Given the description of an element on the screen output the (x, y) to click on. 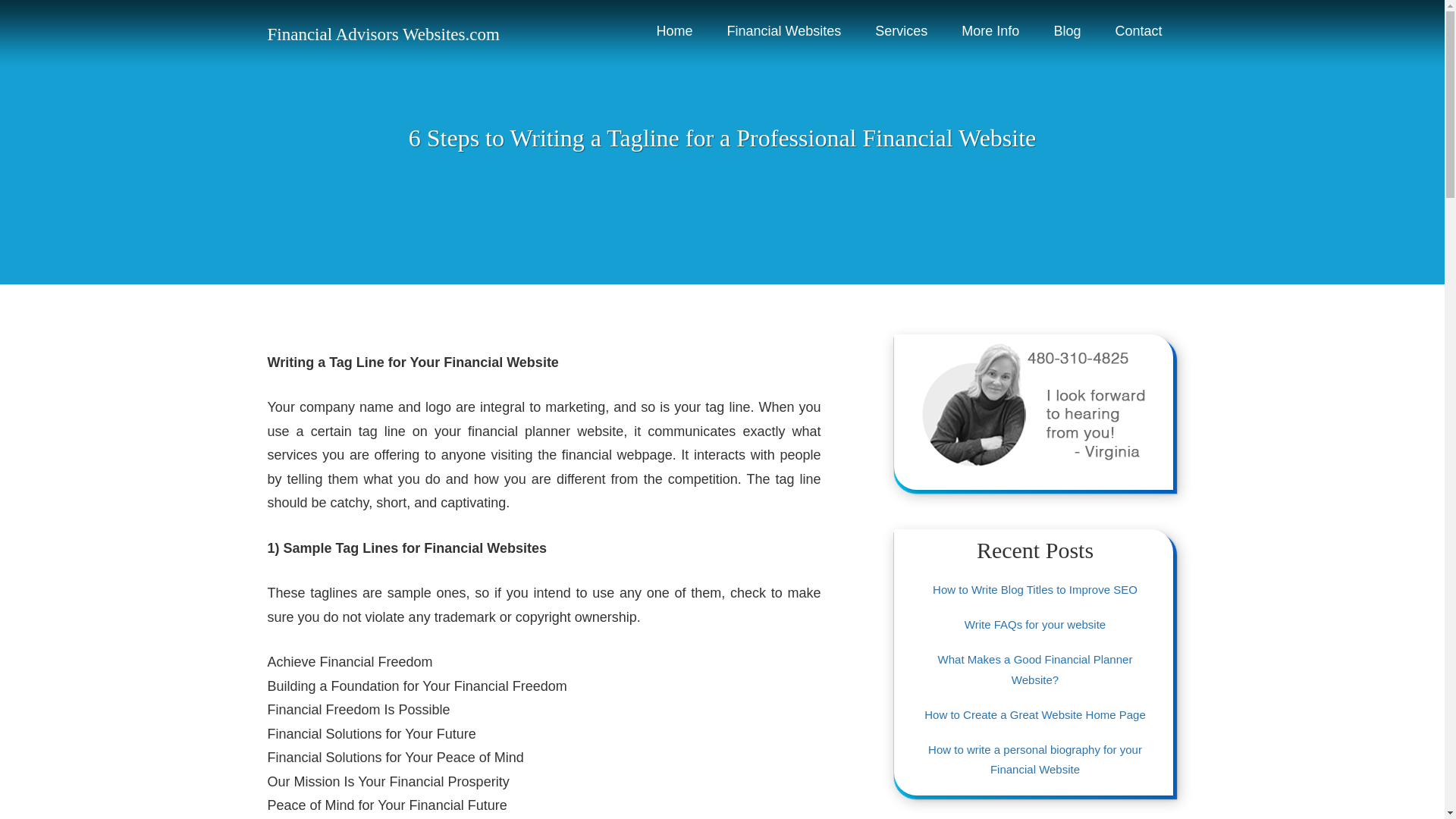
Home (674, 31)
How to write a personal biography for your Financial Website (1034, 758)
What Makes a Good Financial Planner Website? (1034, 668)
Financial Websites (784, 31)
Write FAQs for your website (1034, 624)
How to Create a Great Website Home Page (1034, 714)
How to Write Blog Titles to Improve SEO (1035, 589)
Blog (1067, 31)
Contact (1137, 31)
More Info (989, 31)
Services (901, 31)
Financial Advisors Websites.com (382, 34)
